Given the description of an element on the screen output the (x, y) to click on. 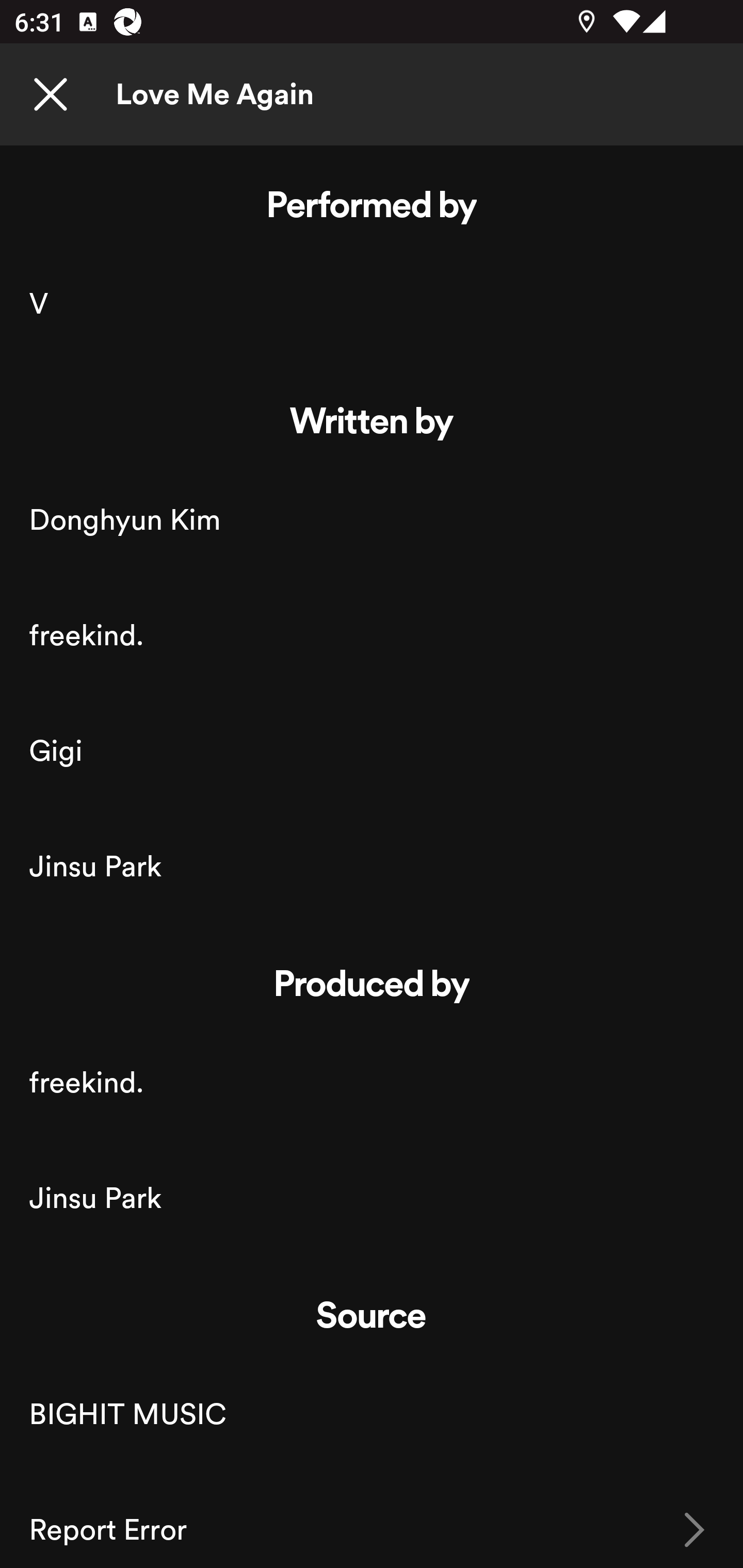
Close (50, 94)
V (371, 304)
Donghyun Kim (371, 519)
freekind. (371, 635)
Gigi (371, 751)
Jinsu Park (371, 866)
freekind. (371, 1082)
Jinsu Park (371, 1197)
BIGHIT MUSIC (371, 1414)
Report Error (371, 1520)
